Given the description of an element on the screen output the (x, y) to click on. 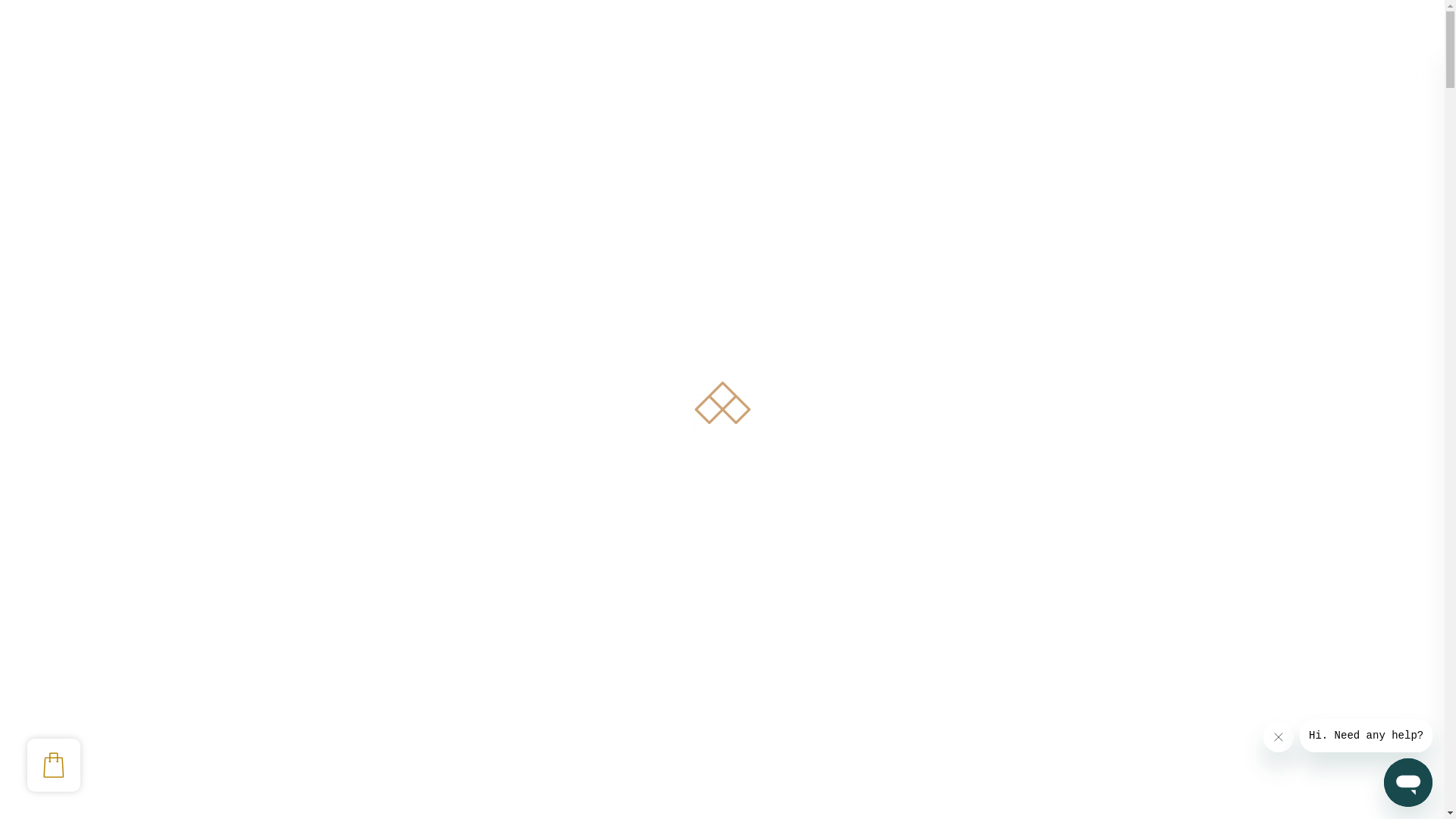
Home Element type: text (271, 267)
Button to launch messaging window Element type: hover (1407, 782)
info@allstyleretrofit.ca Element type: text (111, 71)
Shaker Door Element type: text (973, 746)
Textured Laminate Element type: text (1000, 627)
Slab Door Element type: text (967, 507)
Premium MDF Element type: text (990, 787)
Allstyle Retrofit - Custom Kitchen Cabinets & Renovations Element type: hover (93, 130)
REQUEST FREE QUOTE Element type: text (1325, 129)
Allstyle Retrofit - Custom Kitchen Cabinets & Renovations Element type: hover (93, 129)
High Gloss Element type: text (979, 667)
Premium MDF Element type: text (990, 548)
Close message Element type: hover (1278, 736)
Message from company Element type: hover (1365, 735)
+1 905-612-9557 Element type: text (274, 71)
Supermatte Element type: text (981, 706)
Real Wood Veneer Element type: text (998, 588)
Any Questions? Contact us Element type: text (1331, 71)
